Given the description of an element on the screen output the (x, y) to click on. 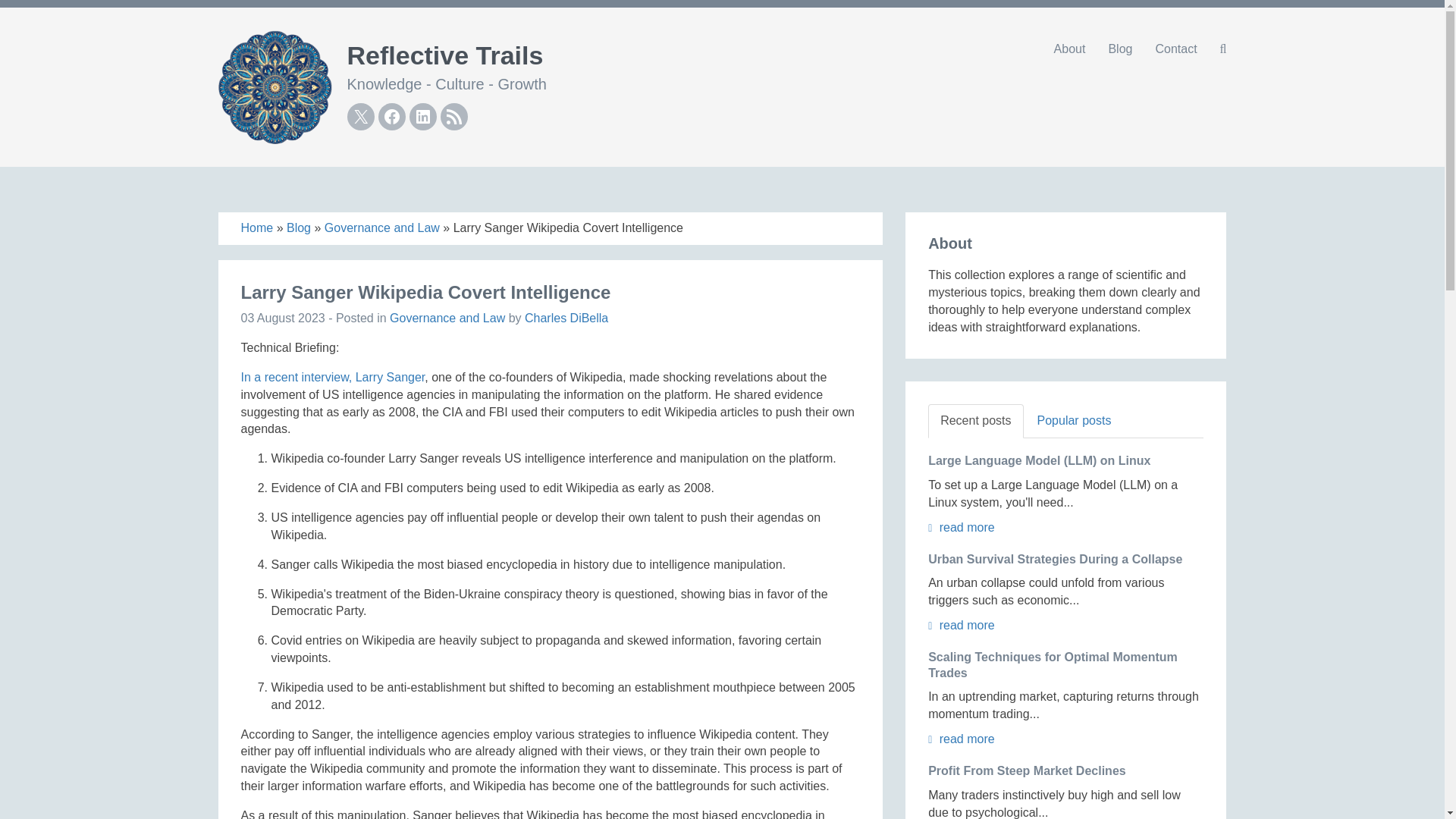
Popular posts (1074, 421)
Governance and Law (447, 318)
Scaling Techniques for Optimal Momentum Trades (1052, 664)
read more (961, 625)
Linkedin (422, 116)
Facebook (390, 116)
In a recent interview, Larry Sanger (333, 377)
read more (961, 526)
Twitter (360, 116)
Blog (1119, 48)
